Given the description of an element on the screen output the (x, y) to click on. 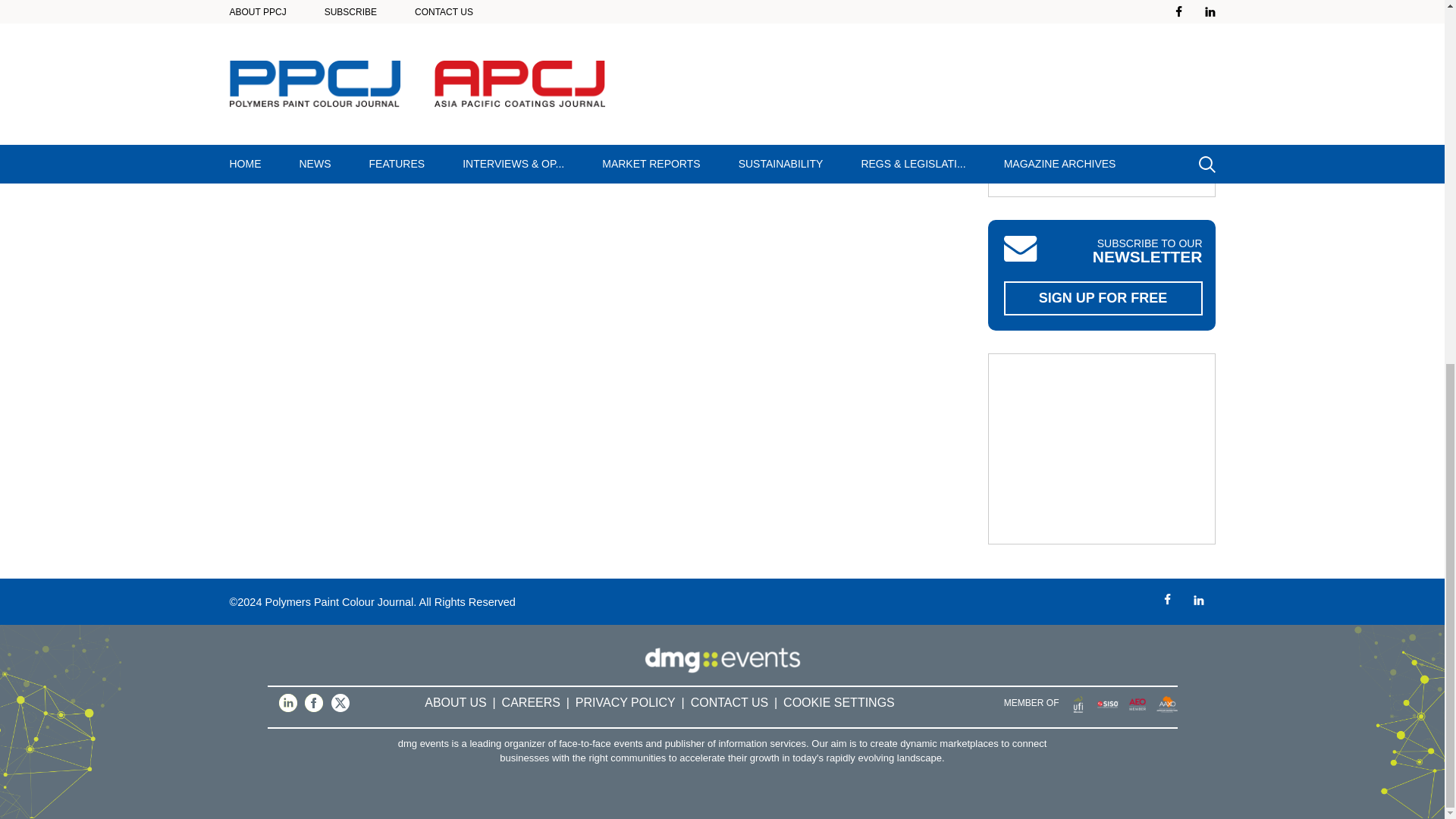
Hexion and Clariant forge strategic collaboration (308, 12)
3rd party ad content (1101, 98)
3rd party ad content (1101, 448)
